Given the description of an element on the screen output the (x, y) to click on. 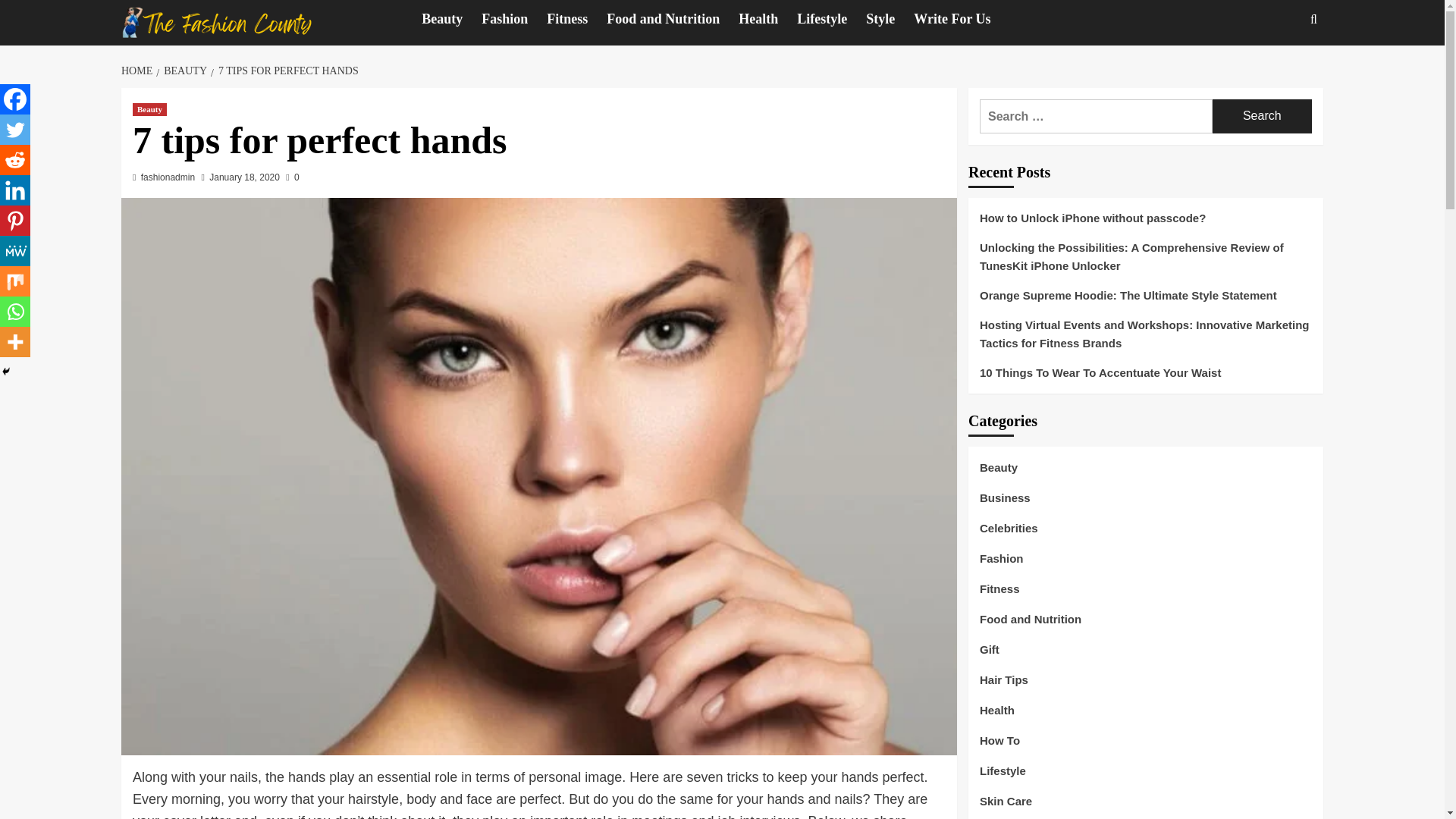
Fashion (514, 19)
Write For Us (961, 19)
More (15, 341)
Search (1261, 116)
HOME (137, 70)
MeWe (15, 250)
Twitter (15, 129)
Whatsapp (15, 311)
Reddit (15, 159)
Page 1 (538, 777)
